Given the description of an element on the screen output the (x, y) to click on. 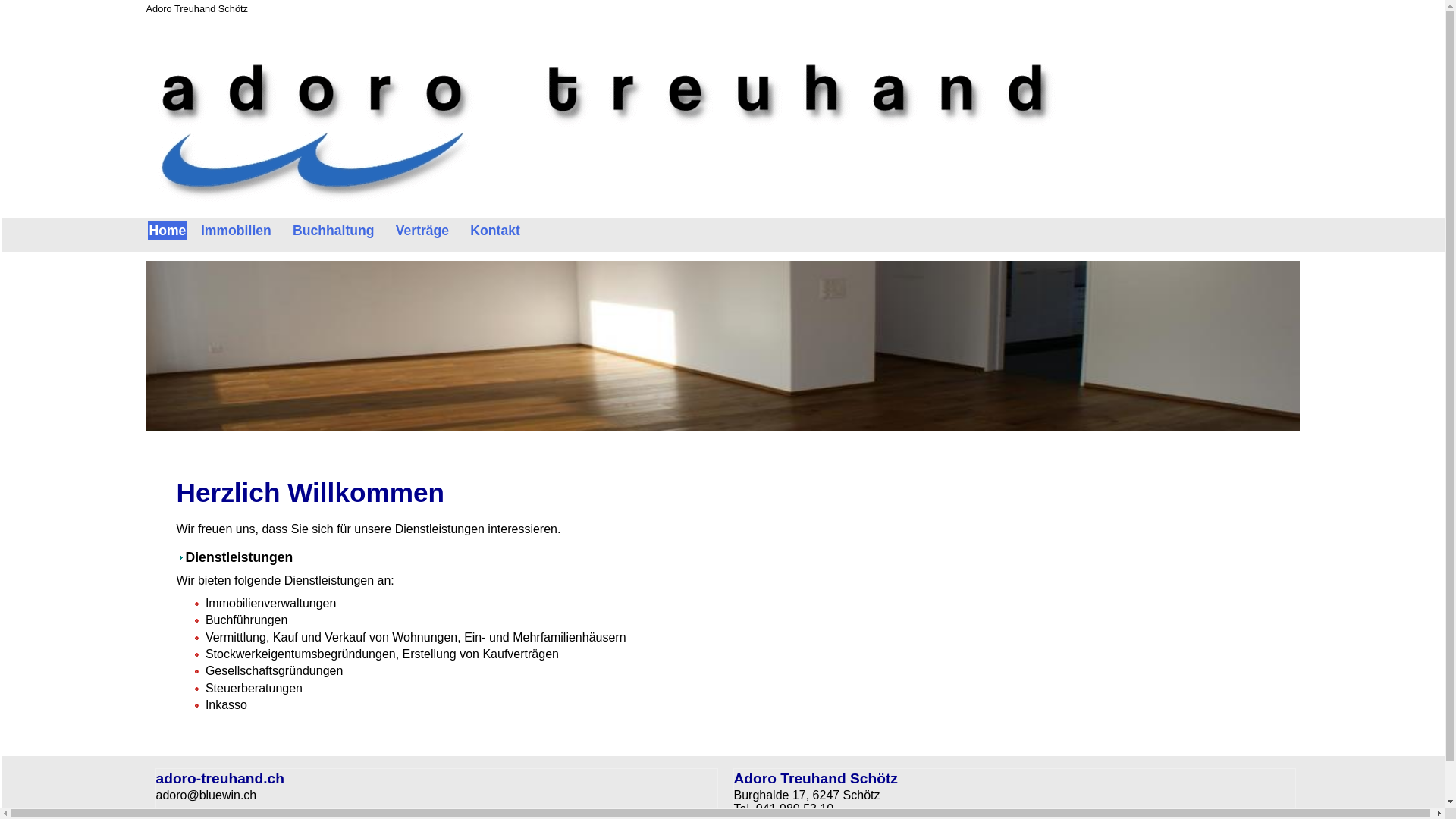
Kontakt Element type: text (495, 230)
Buchhaltung Element type: text (333, 230)
Immobilien Element type: text (235, 230)
